Given the description of an element on the screen output the (x, y) to click on. 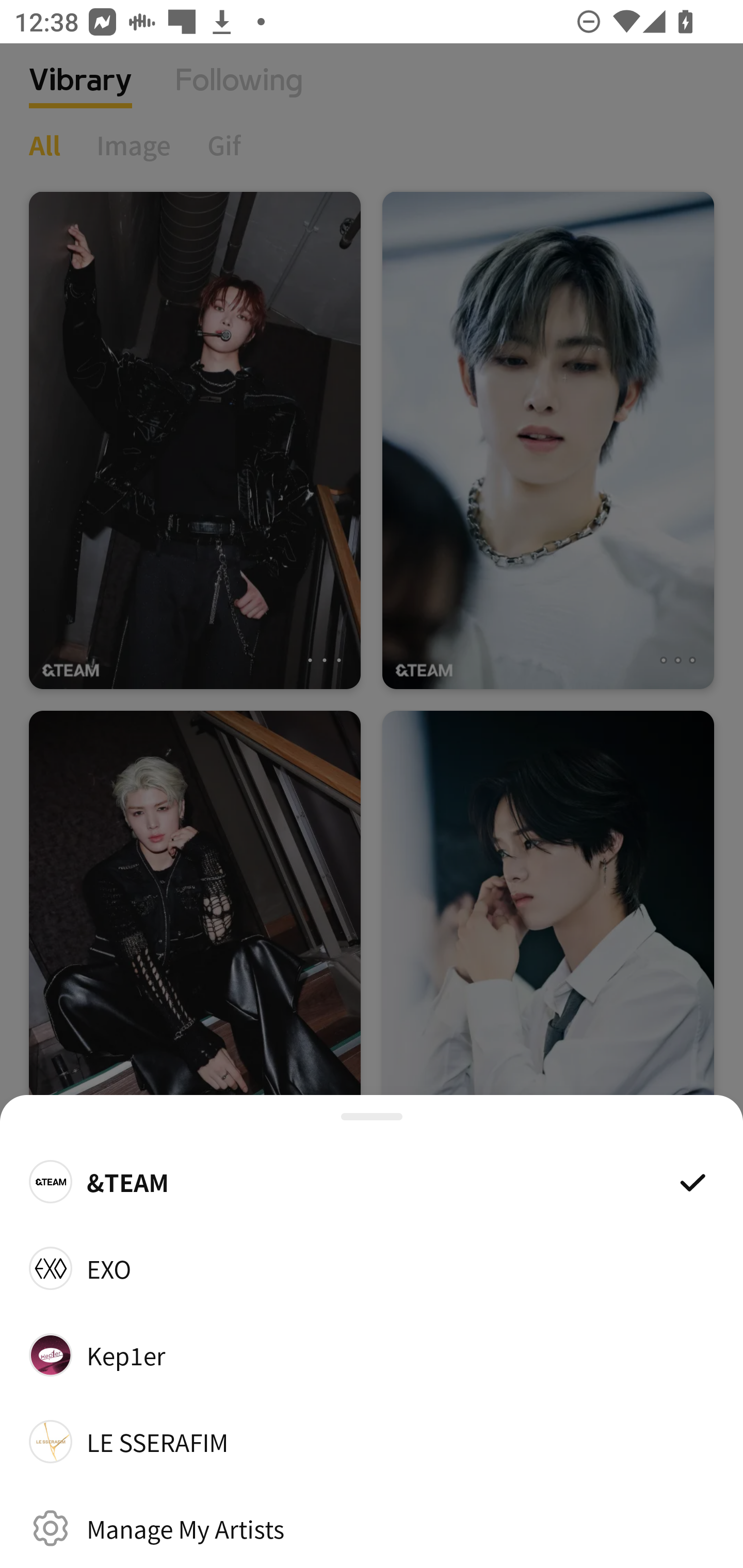
&TEAM (371, 1181)
EXO (371, 1268)
Kep1er (371, 1354)
LE SSERAFIM (371, 1441)
Manage My Artists (371, 1527)
